Given the description of an element on the screen output the (x, y) to click on. 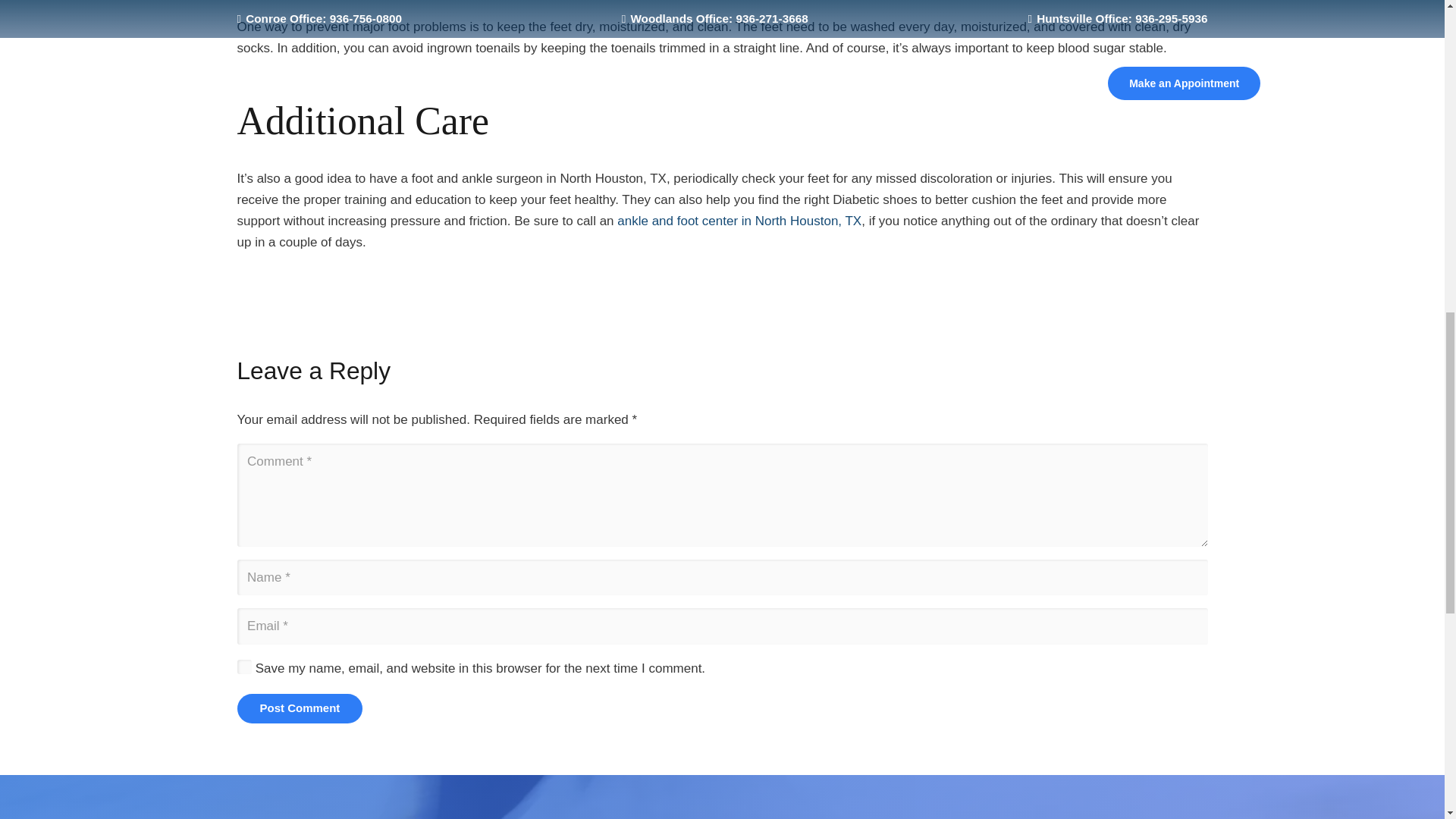
ankle and foot center in North Houston, TX (739, 220)
Back to top (1413, 34)
Post Comment (298, 707)
1 (243, 666)
